Given the description of an element on the screen output the (x, y) to click on. 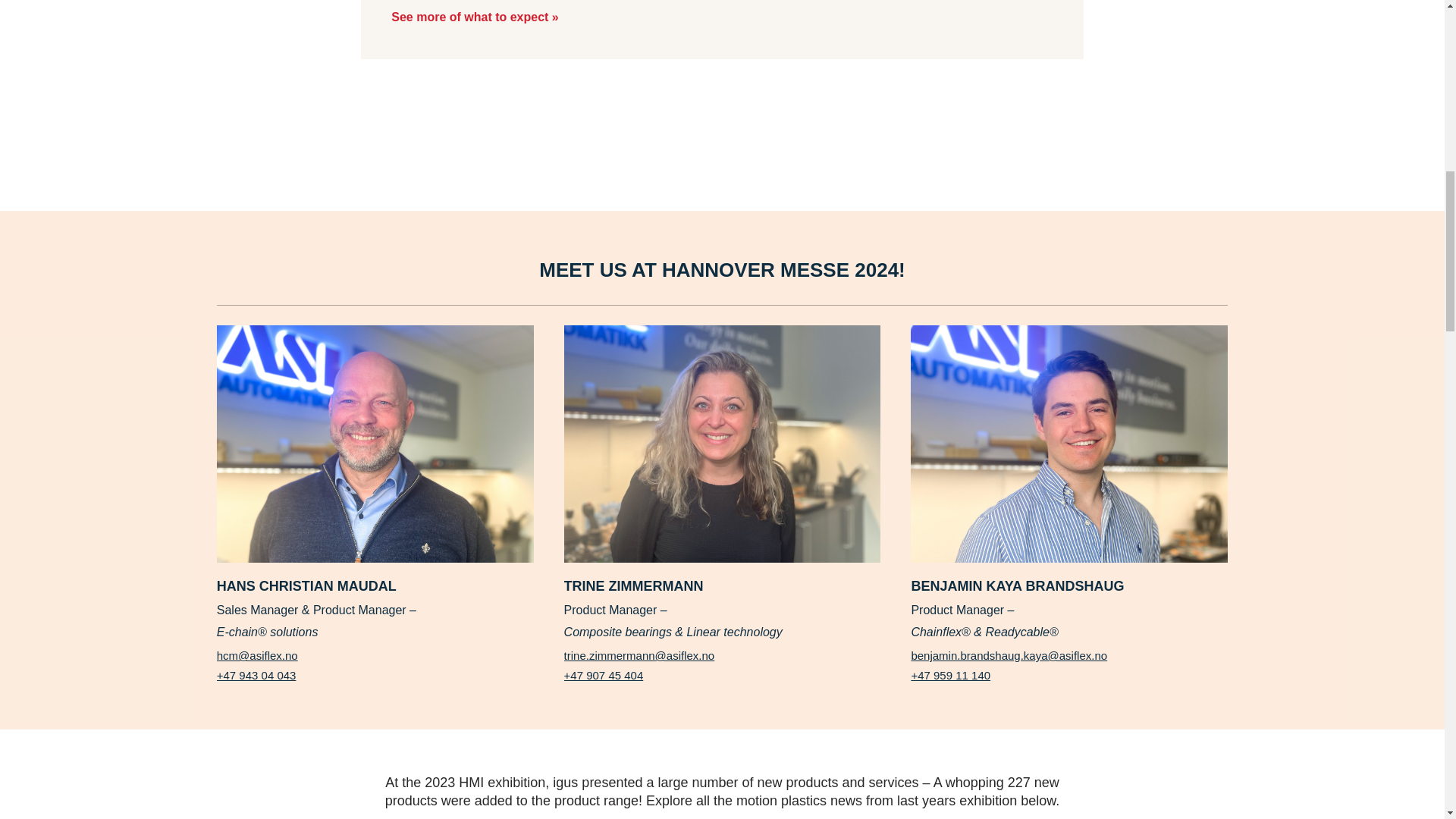
Benjamin cropped (1069, 443)
